Given the description of an element on the screen output the (x, y) to click on. 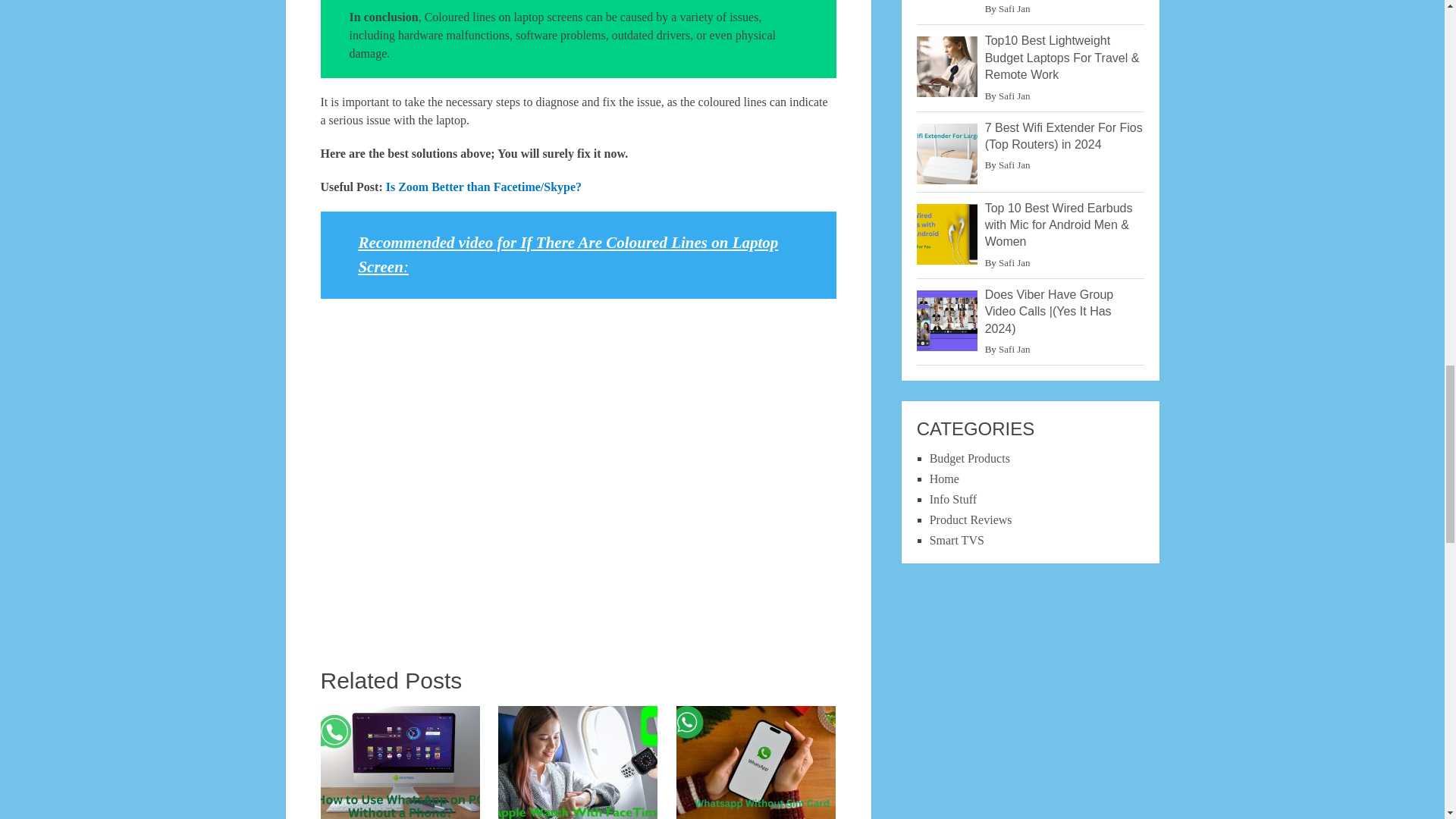
How To Get A Virtual Sim Card For Whatsapp In 2024. (756, 762)
How To Get A Virtual Sim Card For Whatsapp In 2024. (756, 762)
